Given the description of an element on the screen output the (x, y) to click on. 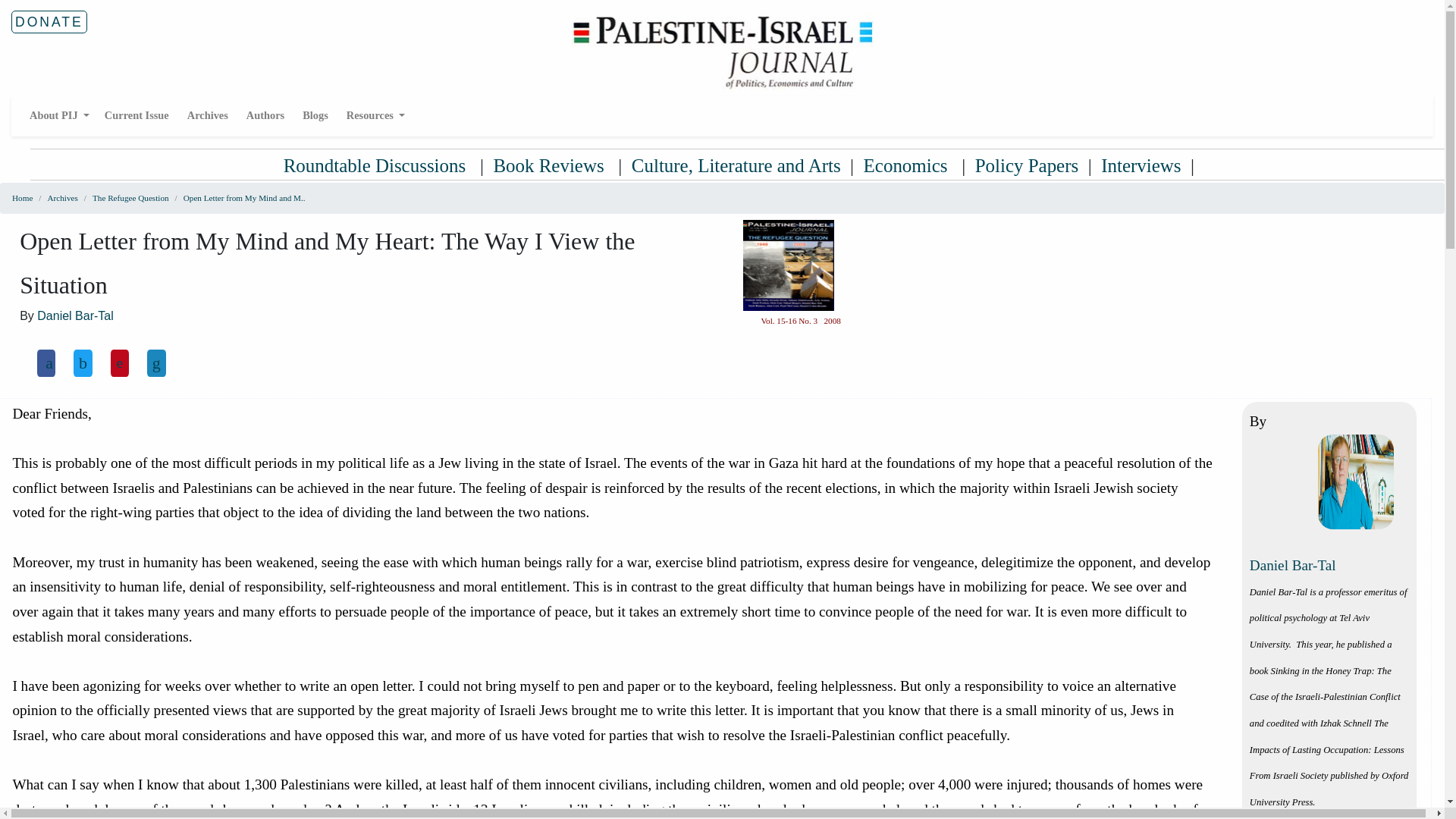
Culture, Literature and Arts (736, 165)
Home (21, 197)
Policy Papers (1026, 165)
Daniel Bar-Tal (1292, 565)
Daniel Bar-Tal (75, 315)
Roundtable Discussions (376, 165)
Economics (907, 165)
Archives (207, 115)
Blogs (315, 115)
DONATE (49, 21)
Book Reviews (550, 165)
Resources (375, 115)
Current Issue (136, 115)
Interviews (1140, 165)
Authors (264, 115)
